Given the description of an element on the screen output the (x, y) to click on. 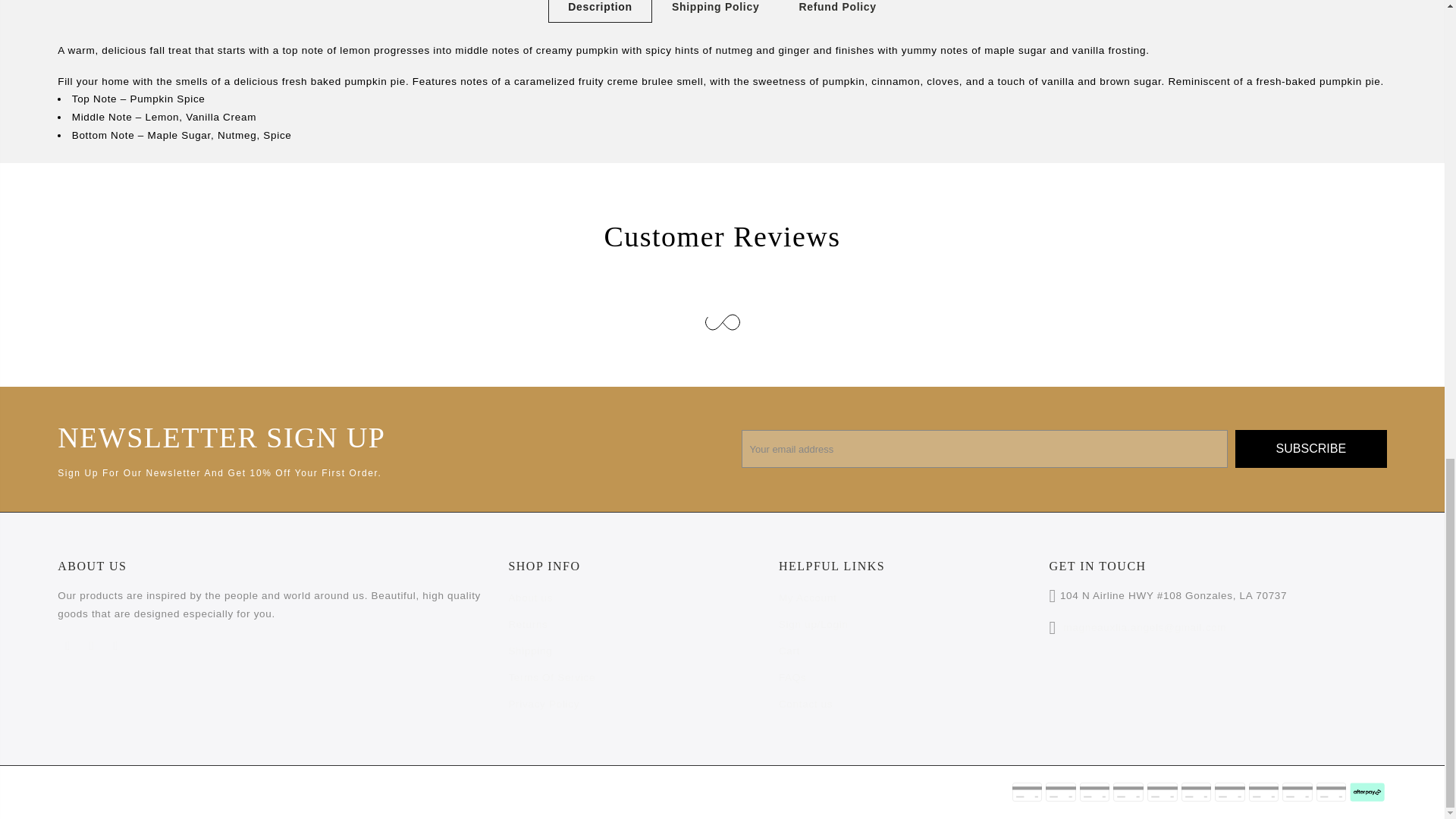
Shipping Policy (715, 11)
Refund Policy (836, 11)
Description (600, 11)
